Given the description of an element on the screen output the (x, y) to click on. 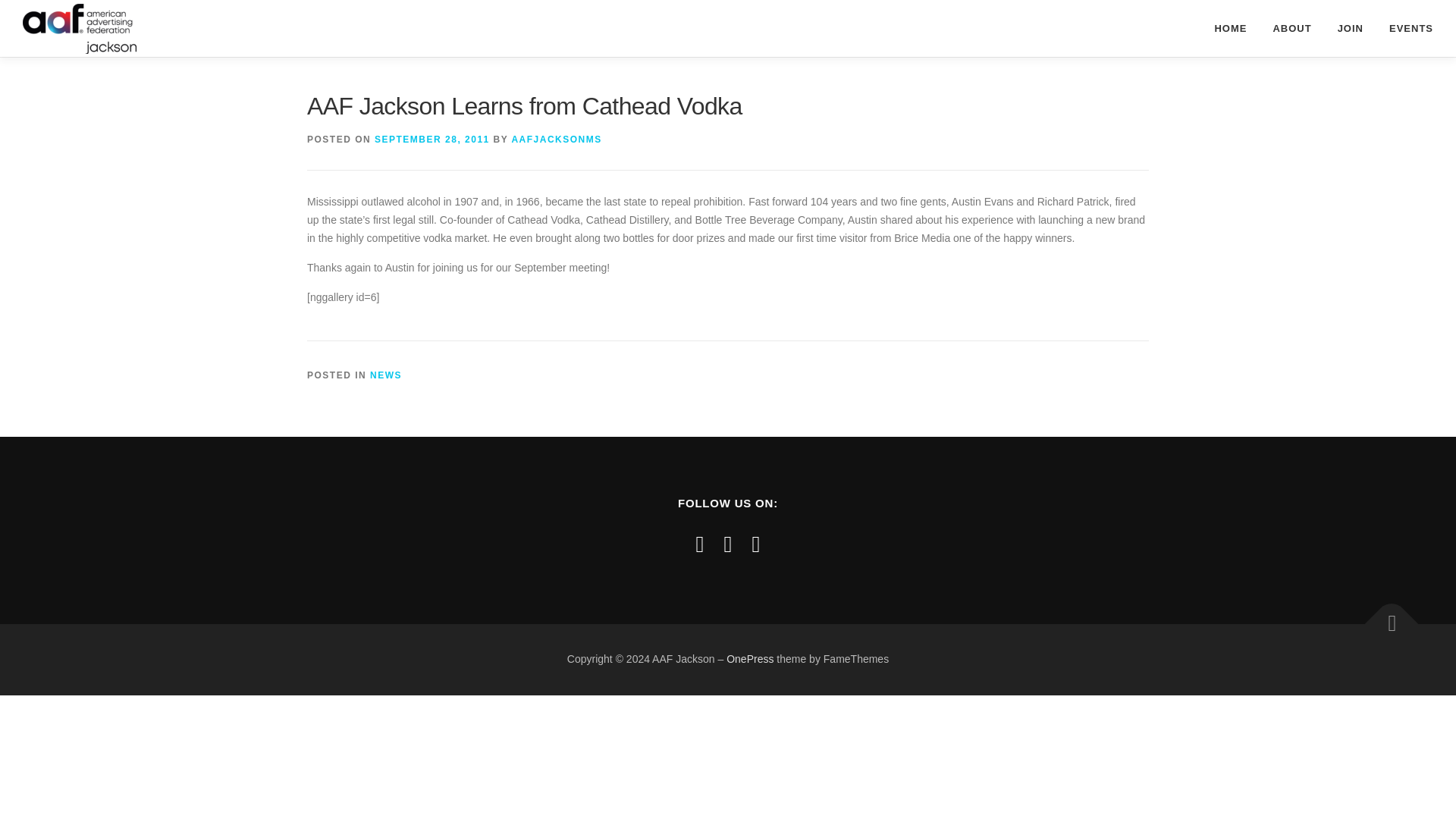
EVENTS (1403, 28)
Back To Top (1384, 616)
OnePress (749, 658)
AAFJACKSONMS (556, 139)
SEPTEMBER 28, 2011 (431, 139)
NEWS (385, 375)
ABOUT (1291, 28)
HOME (1230, 28)
JOIN (1349, 28)
